Given the description of an element on the screen output the (x, y) to click on. 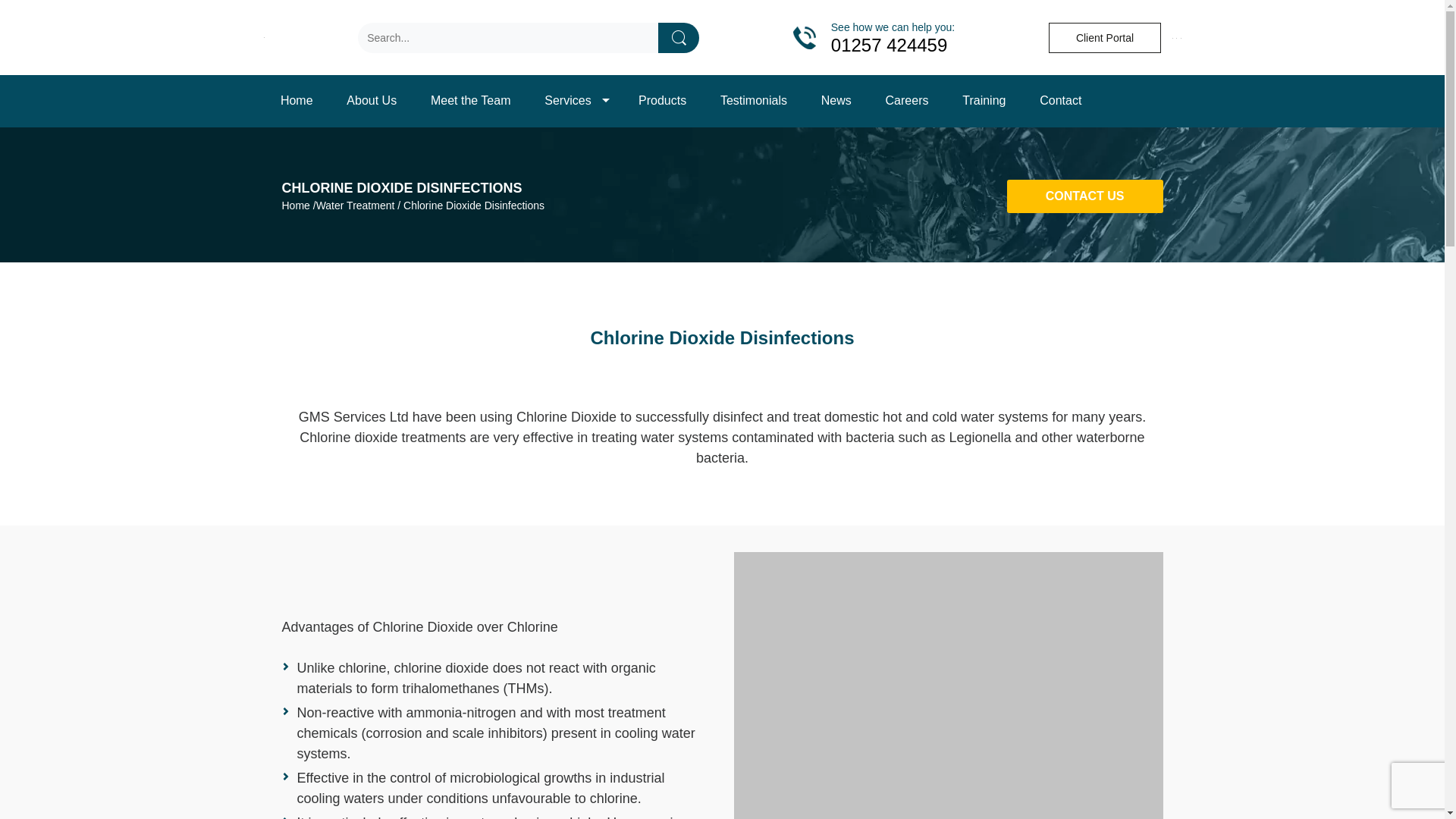
Careers (905, 101)
Services (574, 101)
About Us (371, 101)
Meet the Team (470, 101)
Products (662, 101)
Client Portal (1104, 37)
Training (983, 101)
Testimonials (754, 101)
Search (678, 37)
CONTACT US (1085, 195)
